Given the description of an element on the screen output the (x, y) to click on. 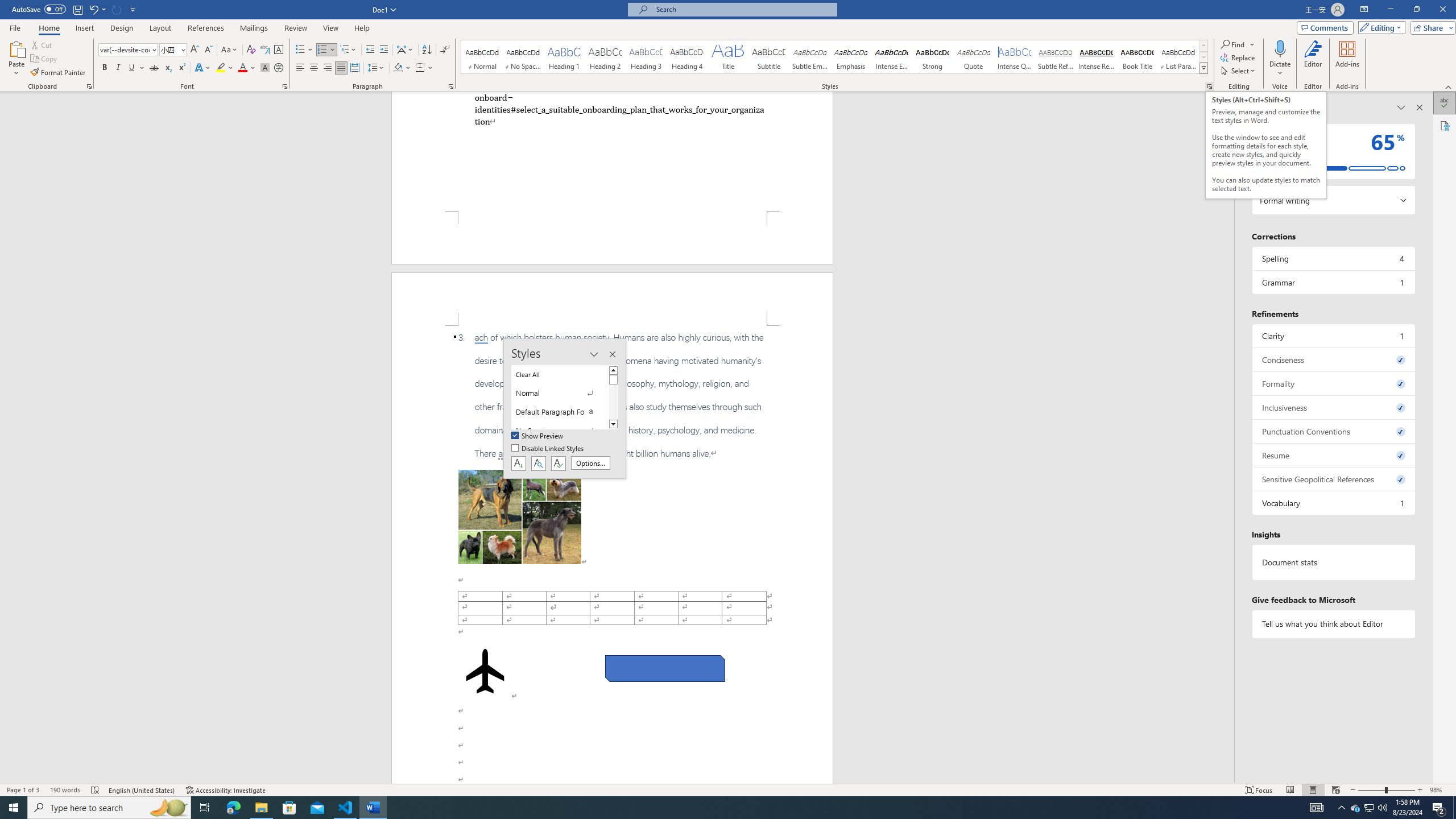
Font... (285, 85)
Shading RGB(0, 0, 0) (397, 67)
Find (1232, 44)
Print Layout (1312, 790)
Vocabulary, 1 issue. Press space or enter to review items. (1333, 502)
File Tab (15, 27)
Focus  (1258, 790)
Font (128, 49)
Web Layout (1335, 790)
References (205, 28)
Font Size (169, 49)
Row Down (1203, 56)
Rectangle: Diagonal Corners Snipped 2 (665, 668)
Styles... (1209, 85)
